Given the description of an element on the screen output the (x, y) to click on. 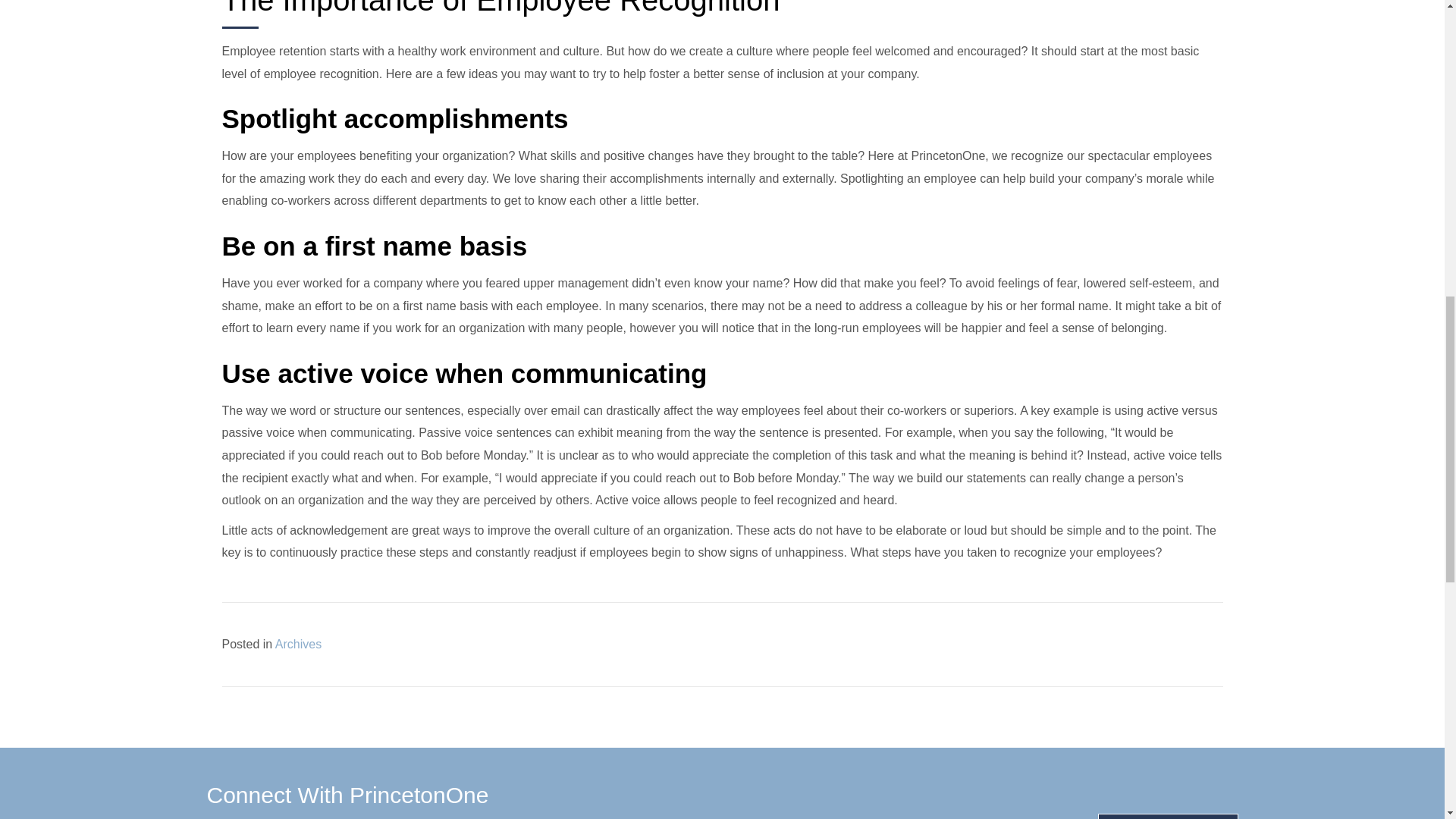
CONTACT US (1168, 816)
Archives (298, 644)
